Given the description of an element on the screen output the (x, y) to click on. 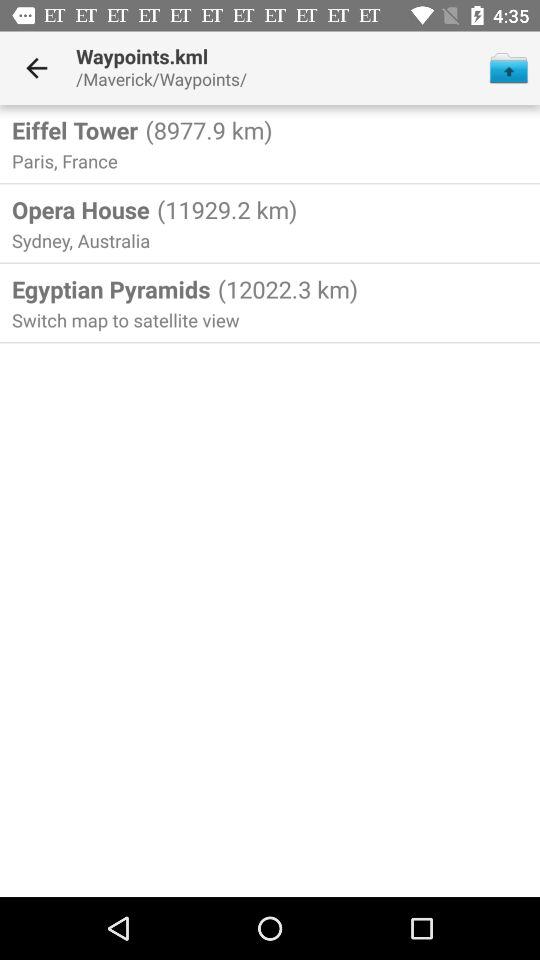
launch the egyptian pyramids item (111, 289)
